Given the description of an element on the screen output the (x, y) to click on. 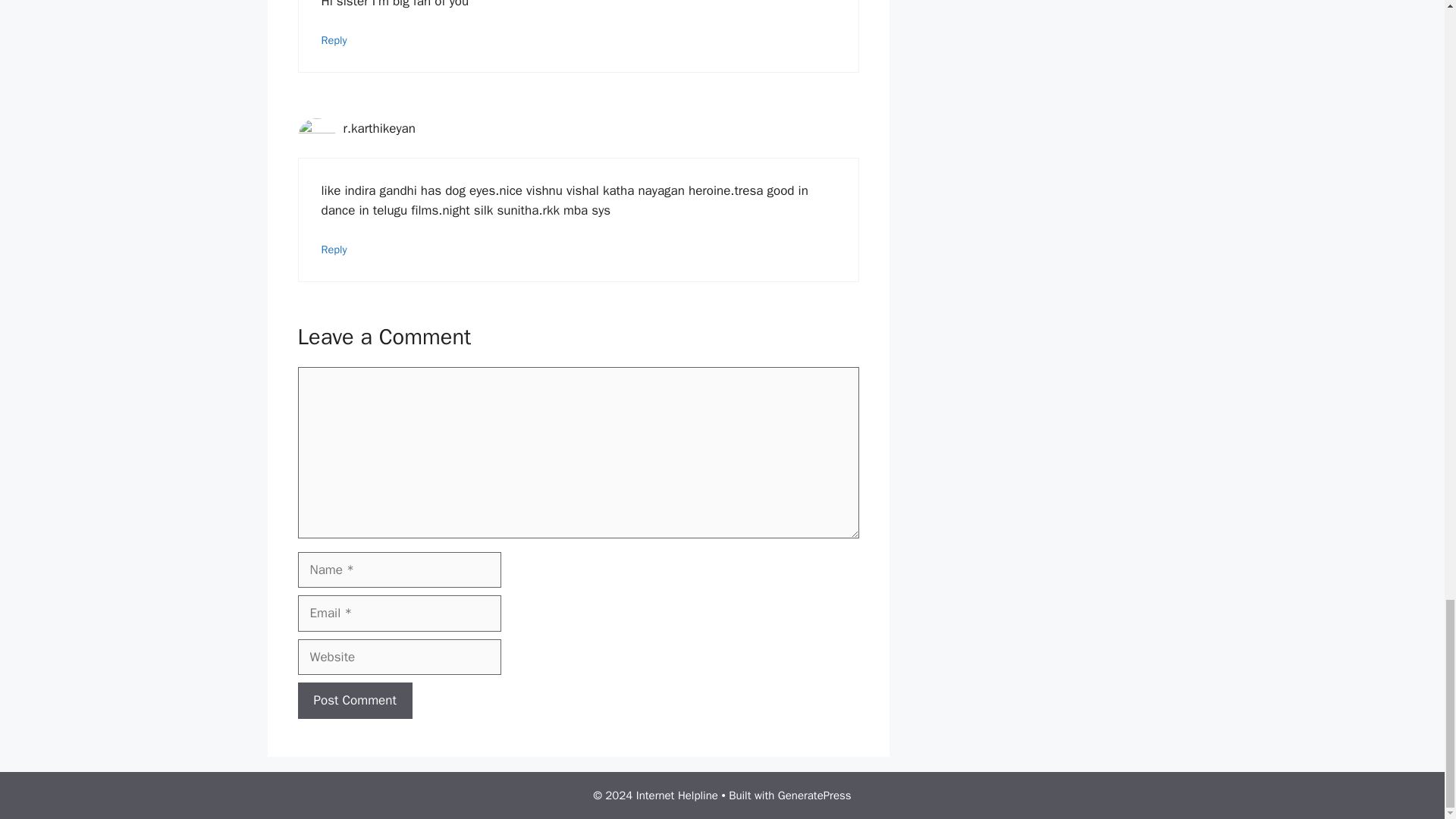
Reply (334, 249)
Post Comment (354, 700)
Post Comment (354, 700)
GeneratePress (814, 795)
Reply (334, 39)
